Given the description of an element on the screen output the (x, y) to click on. 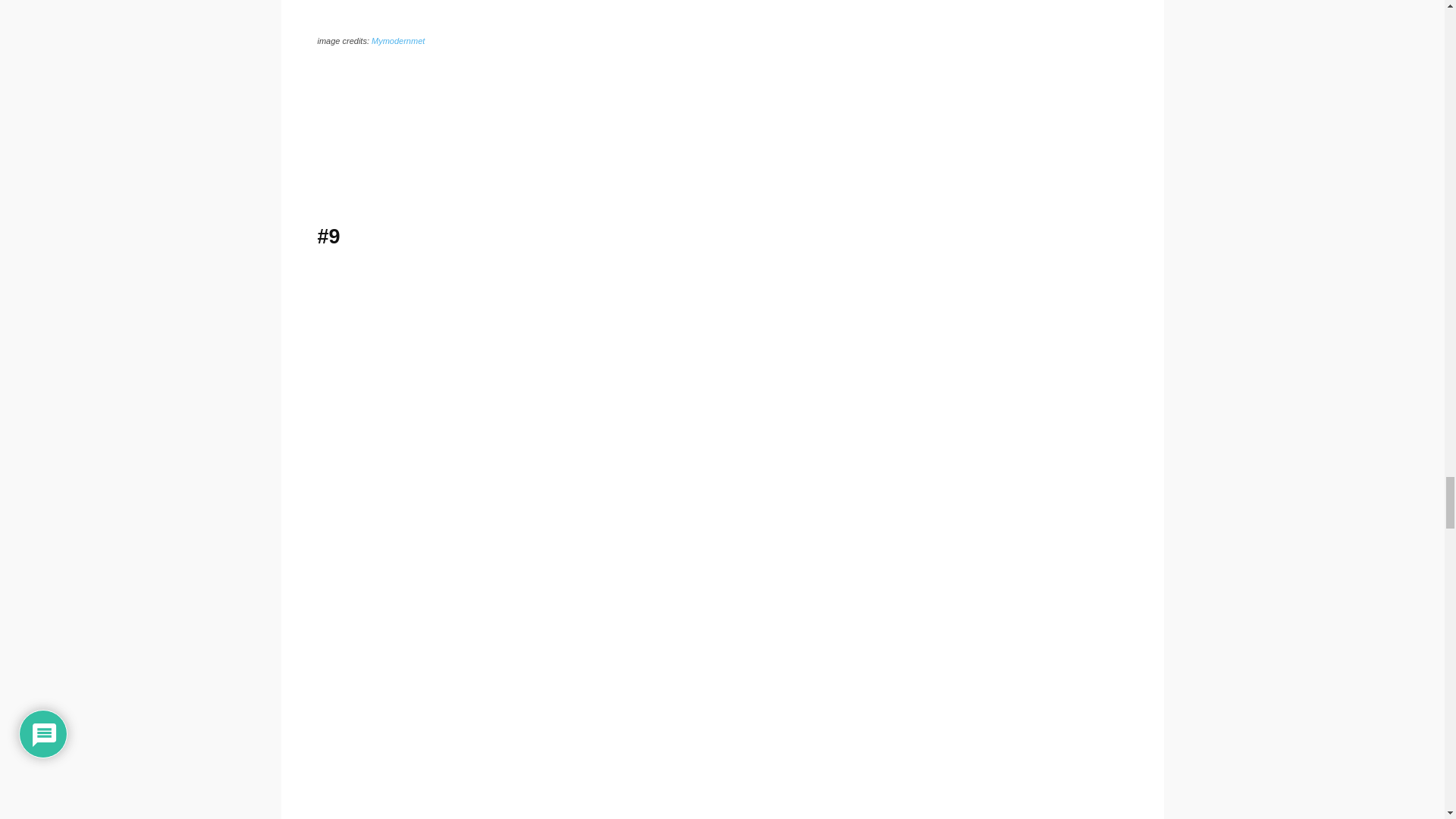
Mymodernmet (398, 40)
